Given the description of an element on the screen output the (x, y) to click on. 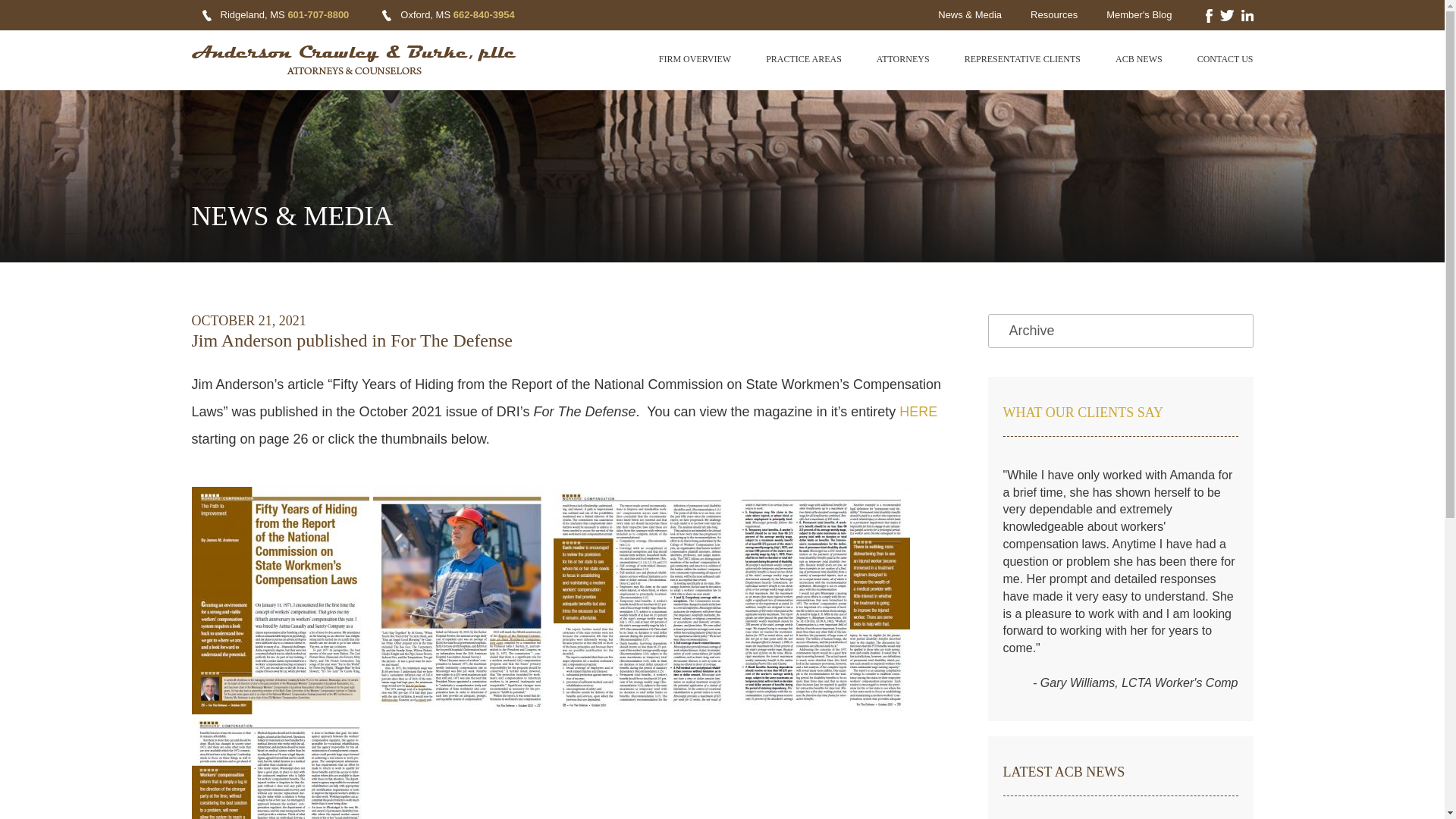
WHAT OUR CLIENTS SAY (1083, 412)
REPRESENTATIVE CLIENTS (1021, 59)
ACB NEWS (1138, 59)
Member's Blog (1139, 14)
ATTORNEYS (903, 59)
CONTACT US (1224, 59)
HERE (918, 411)
FIRM OVERVIEW (694, 59)
Resources (1053, 14)
PRACTICE AREAS (803, 59)
